Given the description of an element on the screen output the (x, y) to click on. 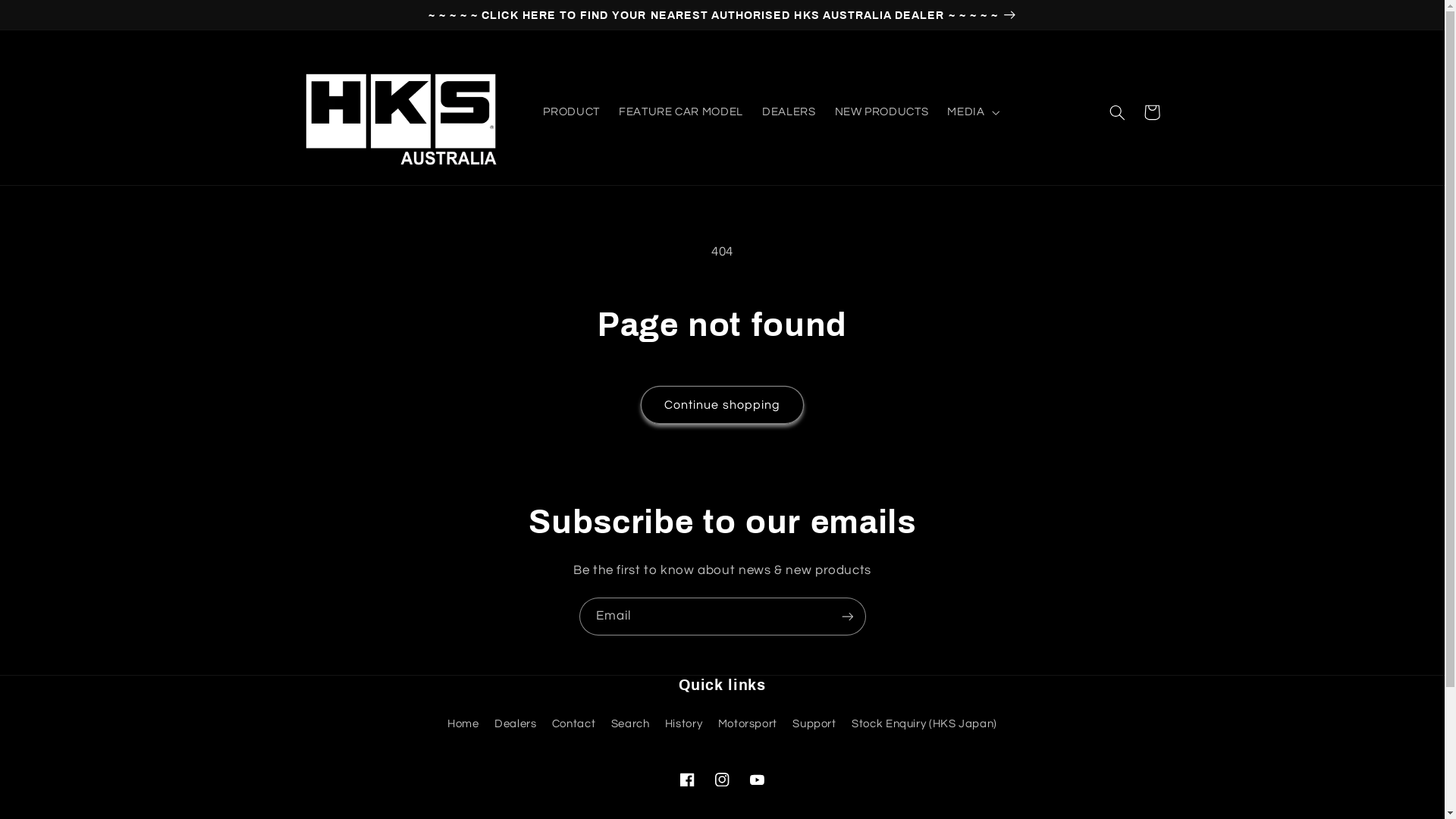
Continue shopping Element type: text (722, 404)
DEALERS Element type: text (788, 111)
Facebook Element type: text (686, 779)
History Element type: text (683, 723)
Dealers Element type: text (515, 723)
Cart Element type: text (1151, 111)
FEATURE CAR MODEL Element type: text (680, 111)
Contact Element type: text (573, 723)
YouTube Element type: text (757, 779)
Motorsport Element type: text (747, 723)
Search Element type: text (630, 723)
NEW PRODUCTS Element type: text (881, 111)
Home Element type: text (463, 725)
Instagram Element type: text (721, 779)
Stock Enquiry (HKS Japan) Element type: text (924, 723)
Support Element type: text (813, 723)
PRODUCT Element type: text (571, 111)
